Given the description of an element on the screen output the (x, y) to click on. 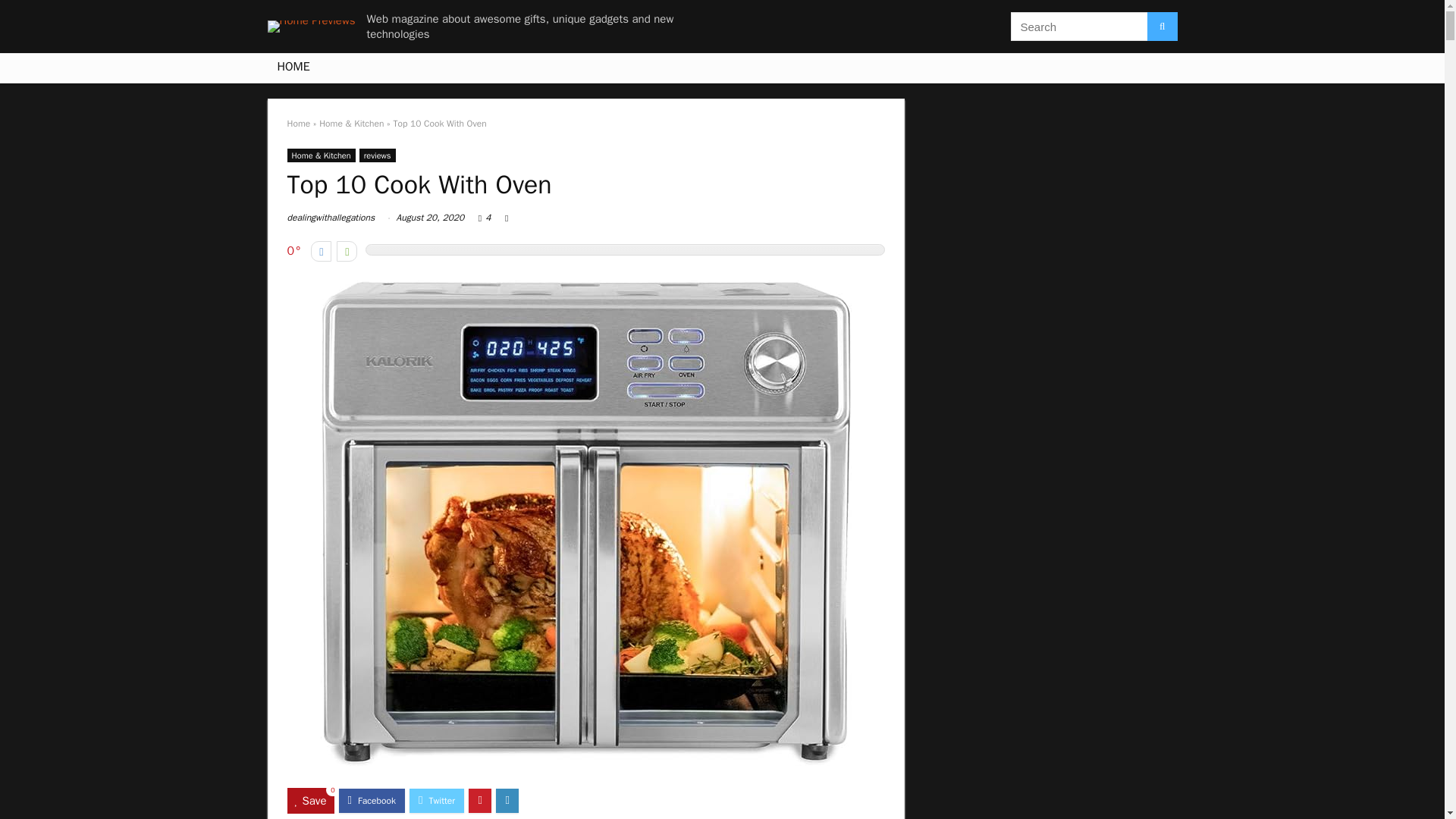
Vote down (321, 250)
HOME (292, 68)
dealingwithallegations (330, 217)
View all posts in reviews (377, 155)
reviews (377, 155)
Home (298, 123)
Vote up (346, 250)
